Given the description of an element on the screen output the (x, y) to click on. 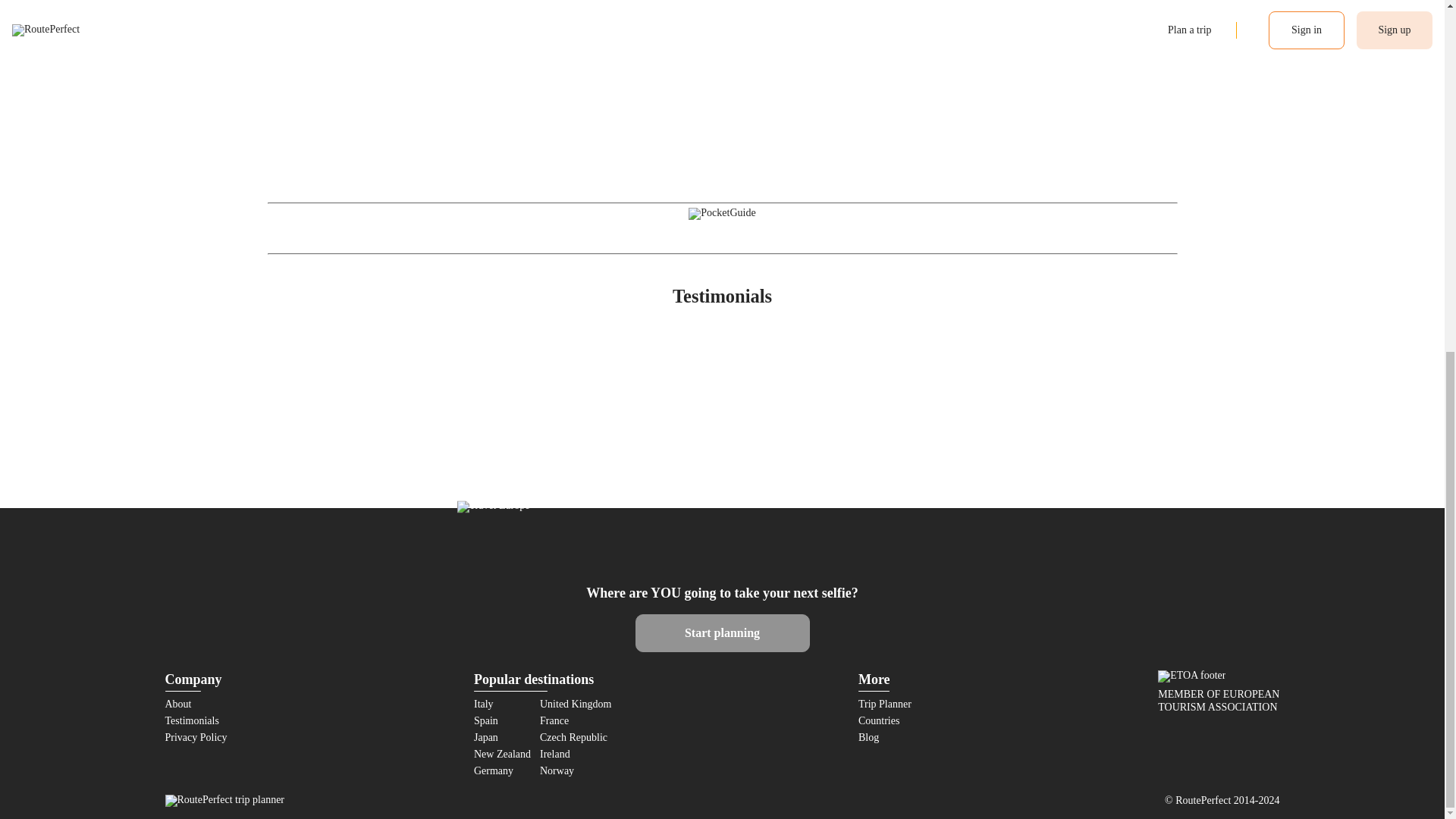
Trip Planner (885, 704)
Norway (556, 770)
Germany (493, 770)
Italy (483, 704)
New Zealand (502, 754)
Blog (869, 737)
Spain (485, 720)
France (554, 720)
Japan (485, 737)
Ireland (555, 754)
Privacy Policy (196, 737)
About (178, 704)
Testimonials (721, 295)
Testimonials (192, 720)
Start planning (721, 632)
